Given the description of an element on the screen output the (x, y) to click on. 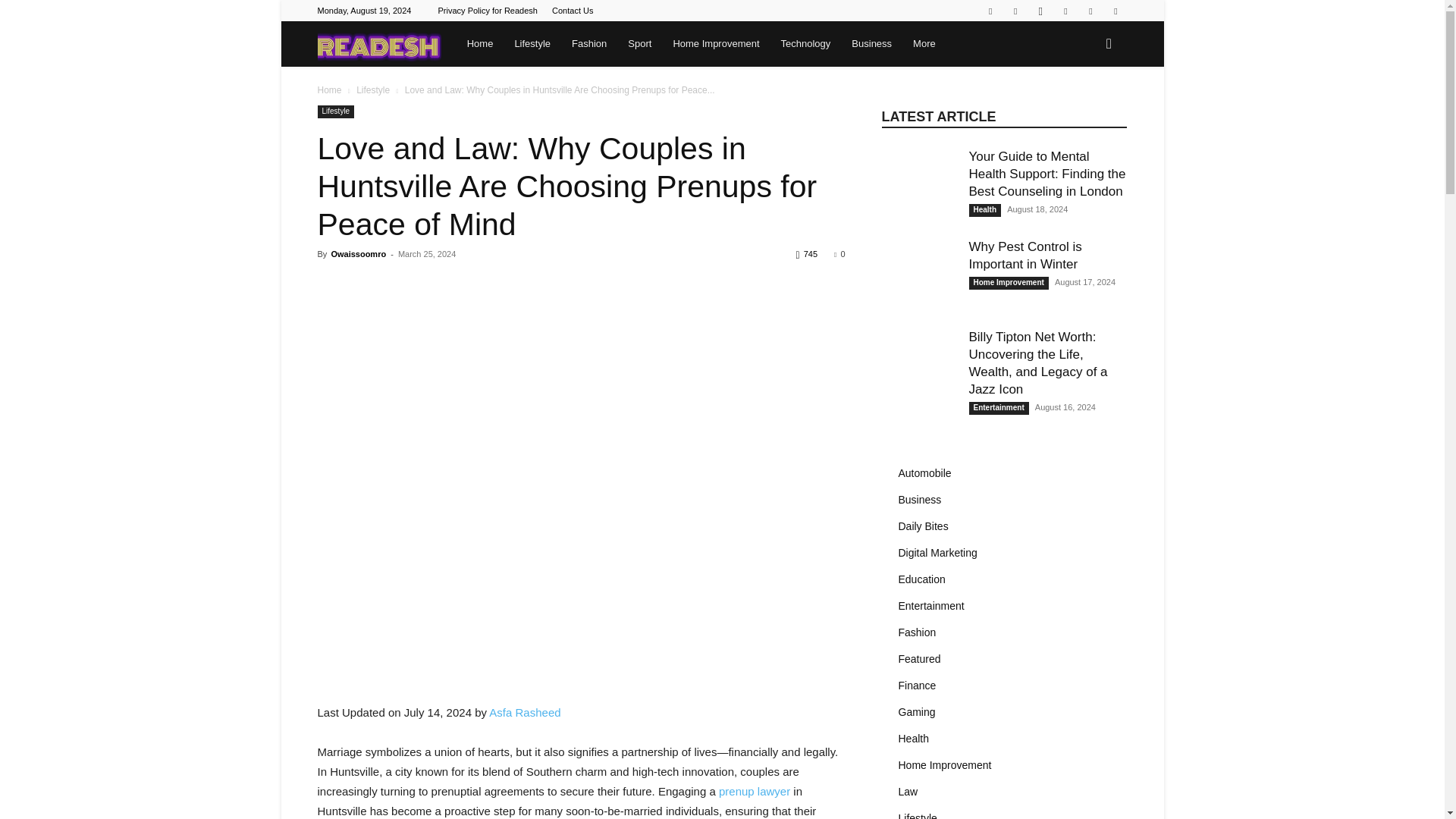
Facebook (1015, 10)
Readish Logo (379, 44)
Instagram (1040, 10)
Behance (989, 10)
VKontakte (1114, 10)
Contact Us (571, 10)
Privacy Policy for Readesh (487, 10)
Twitter (1065, 10)
Vimeo (1090, 10)
